Given the description of an element on the screen output the (x, y) to click on. 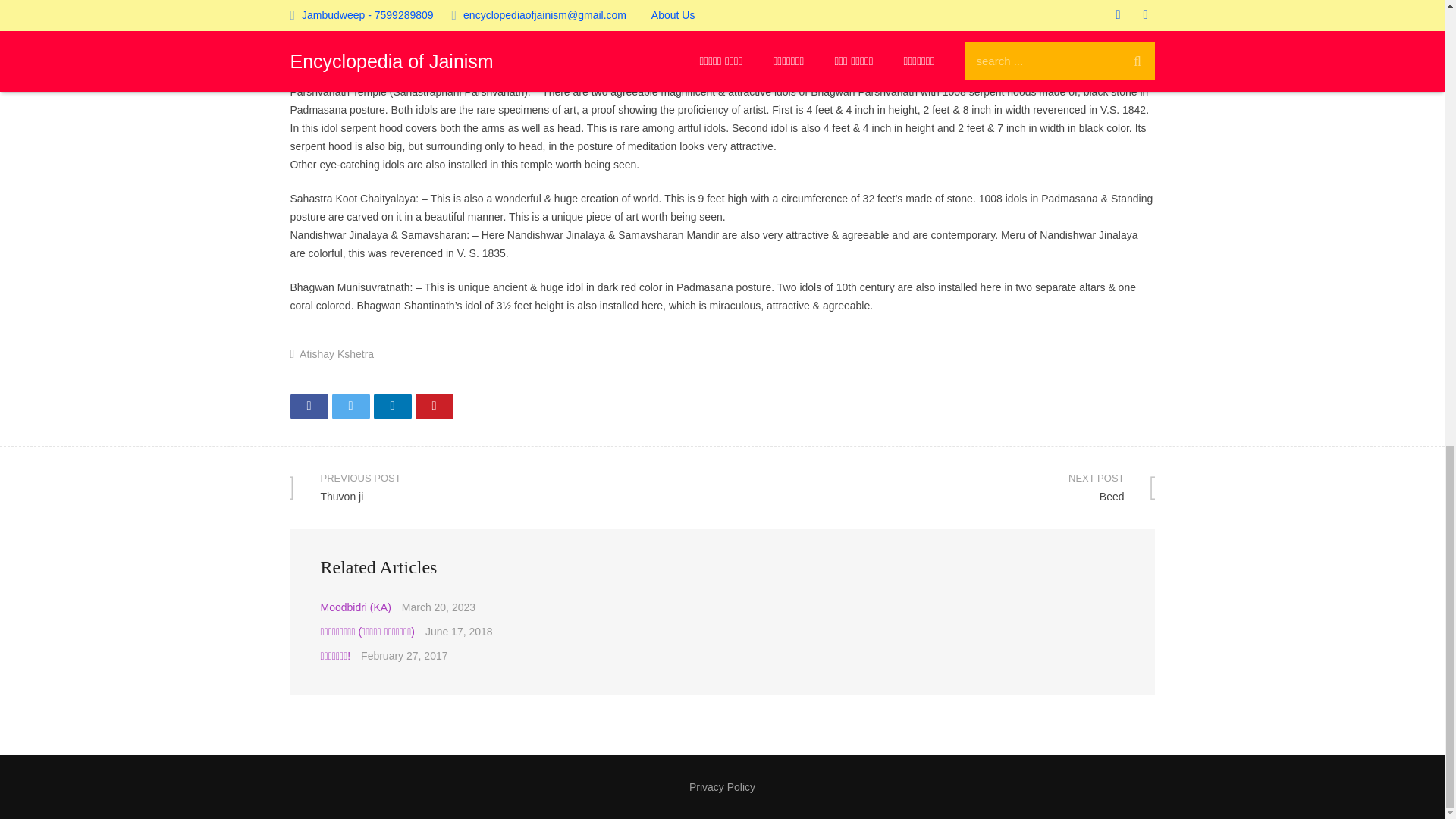
Share this (308, 406)
Share this (391, 406)
Atishay Kshetra (336, 354)
Pin this (938, 487)
Tweet this (505, 487)
Privacy Policy (433, 406)
